Given the description of an element on the screen output the (x, y) to click on. 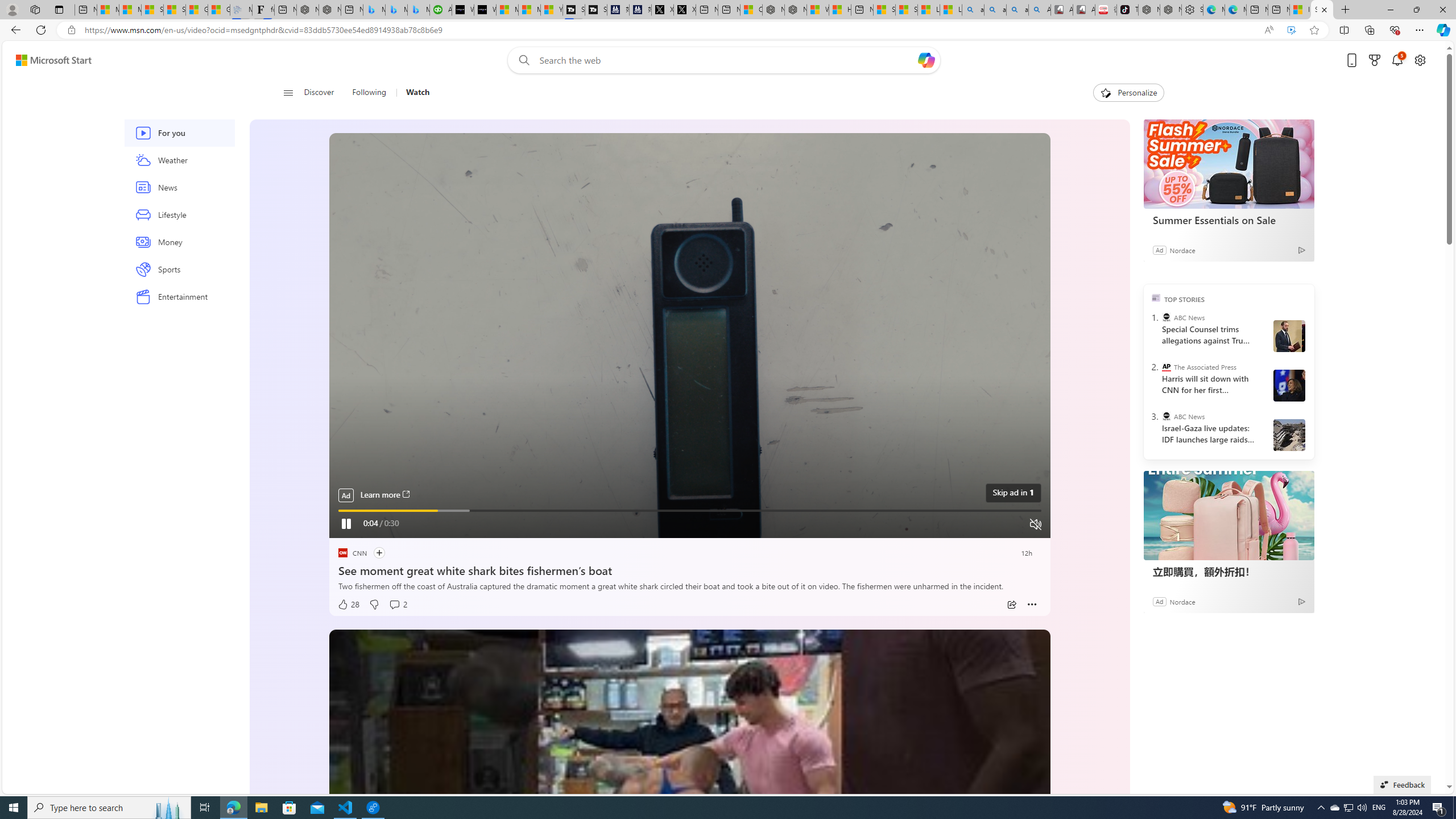
Open navigation menu (287, 92)
Enhance video (1291, 29)
Microsoft rewards (1374, 60)
